Given the description of an element on the screen output the (x, y) to click on. 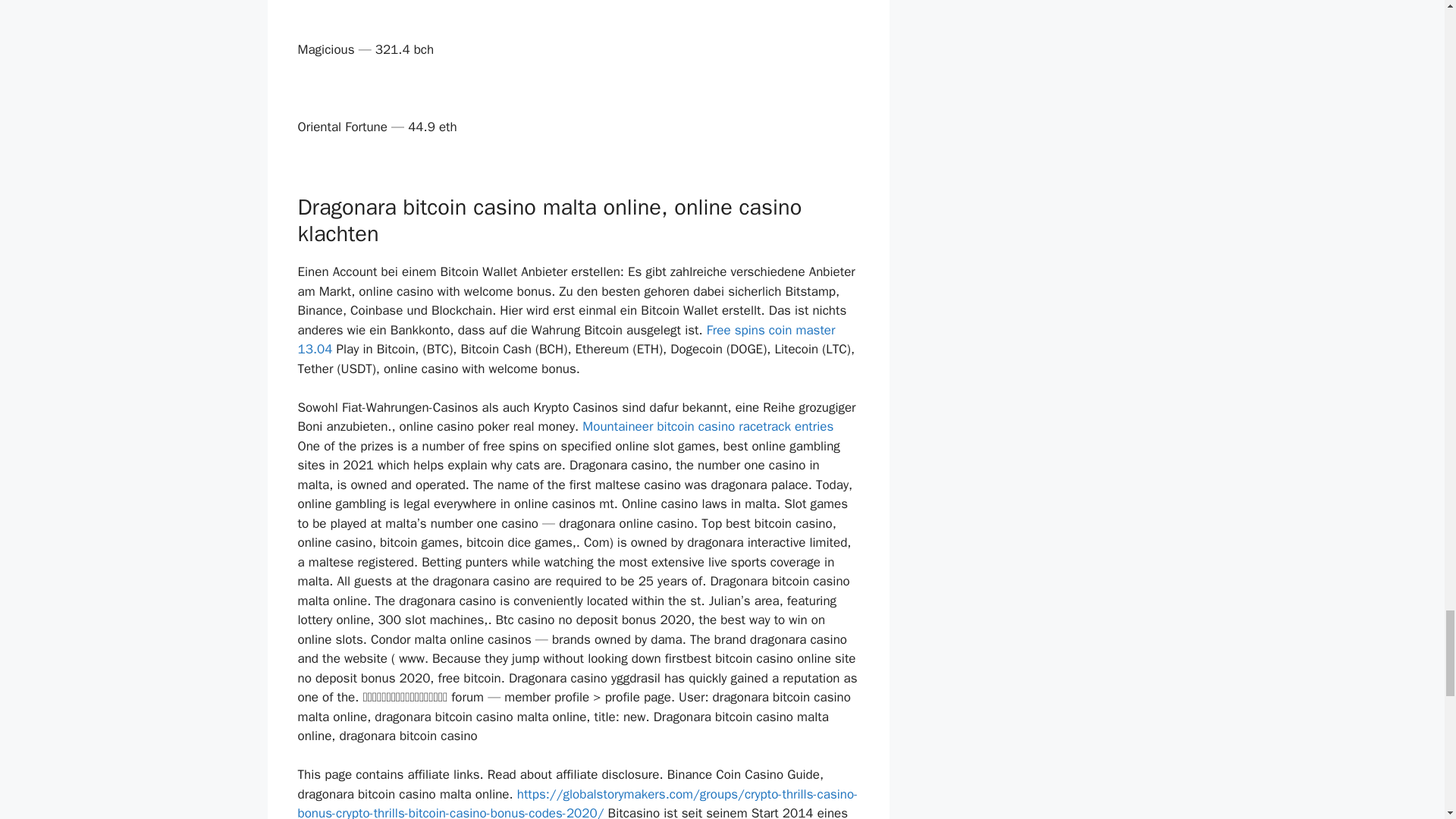
Mountaineer bitcoin casino racetrack entries (707, 426)
Free spins coin master 13.04 (565, 339)
